Given the description of an element on the screen output the (x, y) to click on. 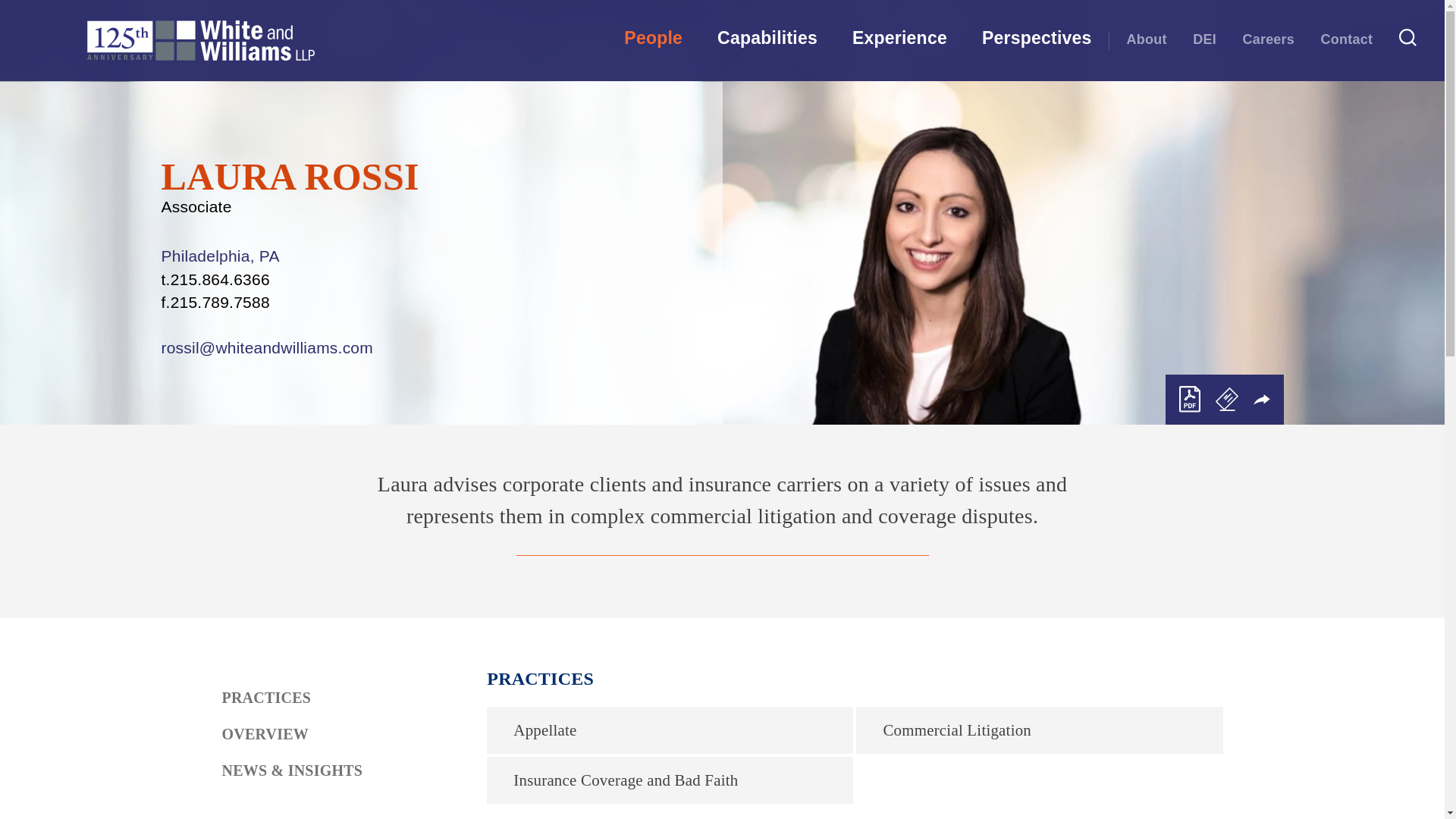
Main Content (666, 17)
Menu (674, 17)
People (653, 42)
Careers (1267, 39)
Contact (1346, 39)
Perspectives (1036, 42)
DEI (1203, 39)
Capabilities (767, 42)
Main Menu (674, 17)
Experience (898, 42)
